Given the description of an element on the screen output the (x, y) to click on. 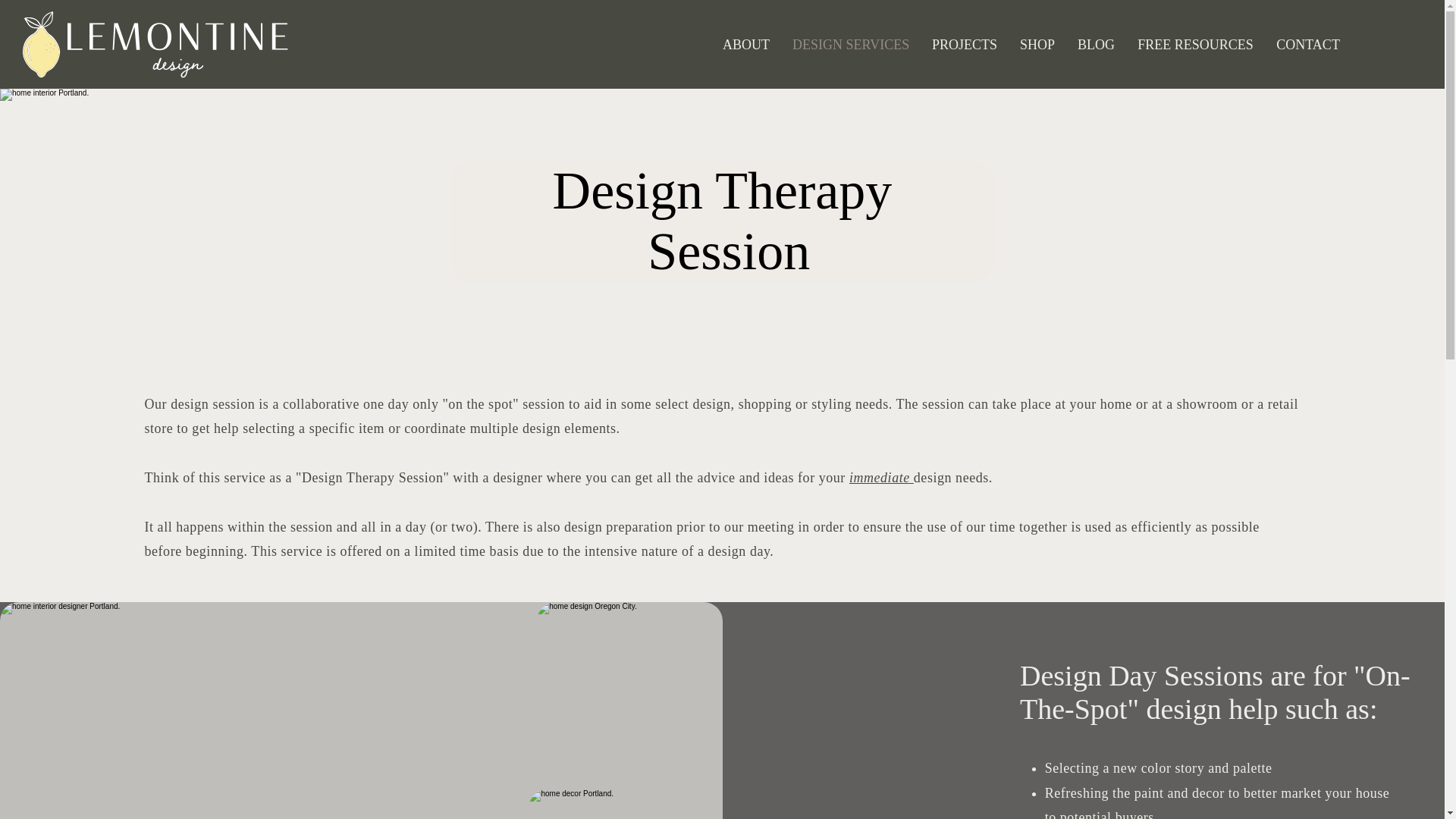
FREE RESOURCES (1195, 43)
ABOUT (745, 43)
DESIGN SERVICES (850, 43)
SHOP (1037, 43)
CONTACT (1308, 43)
BLOG (1095, 43)
PROJECTS (964, 43)
